Given the description of an element on the screen output the (x, y) to click on. 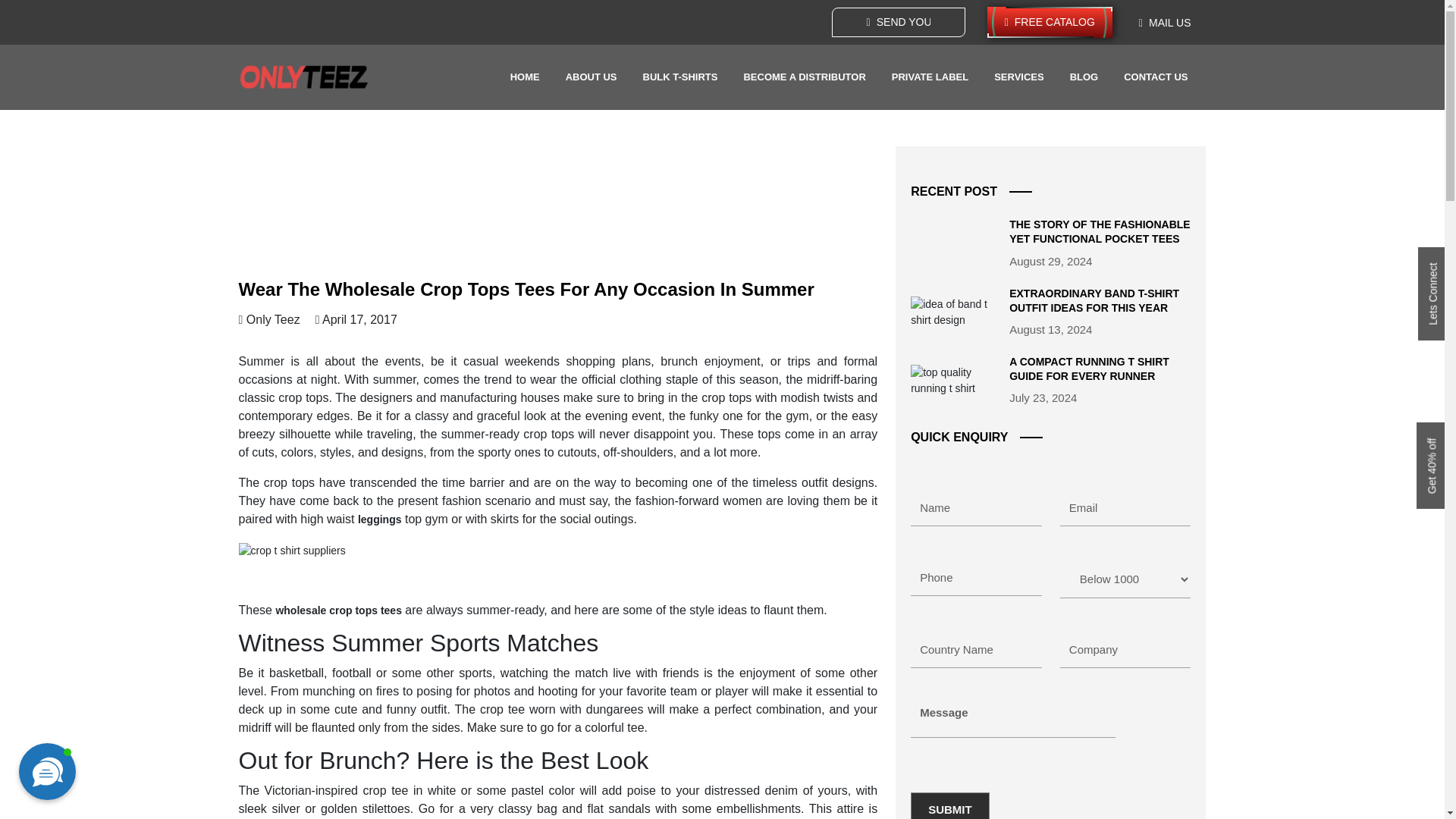
MAIL US (1165, 23)
PRIVATE LABEL (929, 77)
FREE CATALOG (1049, 21)
BULK T-SHIRTS (680, 77)
wholesale crop tops tees (338, 610)
Submit (950, 805)
leggings (379, 519)
CONTACT US (1156, 77)
Bulk T-Shirts (680, 77)
BECOME A DISTRIBUTOR (803, 77)
